Given the description of an element on the screen output the (x, y) to click on. 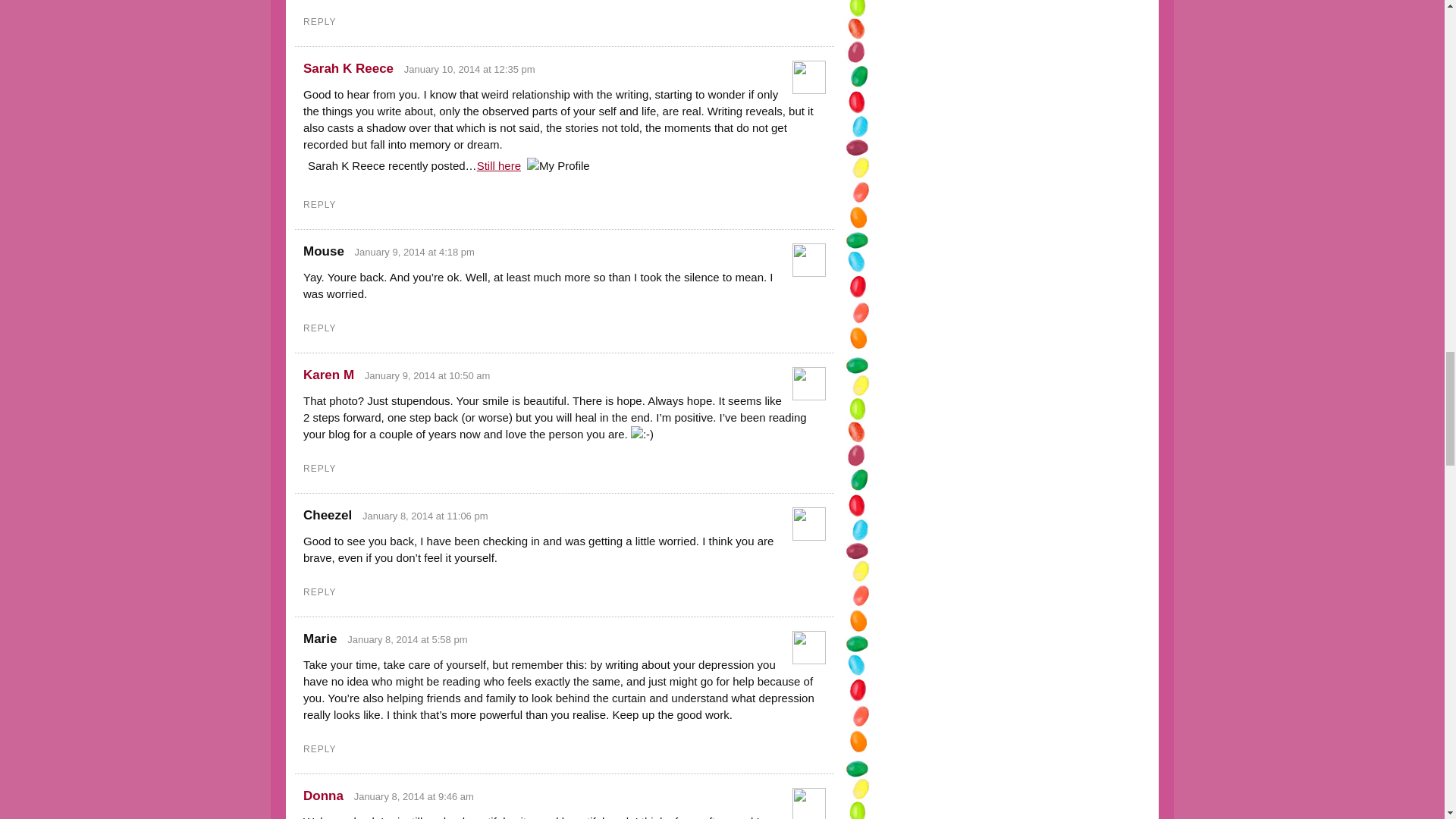
Permalink to this comment (469, 69)
REPLY (319, 327)
Sarah K Reece (347, 68)
Karen M (327, 374)
Permalink to this comment (413, 796)
Permalink to this comment (424, 515)
January 10, 2014 at 12:35 pm (469, 69)
Still here (499, 164)
REPLY (319, 468)
REPLY (319, 21)
January 8, 2014 at 11:06 pm (424, 515)
Permalink to this comment (414, 251)
January 9, 2014 at 10:50 am (427, 375)
Permalink to this comment (407, 639)
REPLY (319, 204)
